Given the description of an element on the screen output the (x, y) to click on. 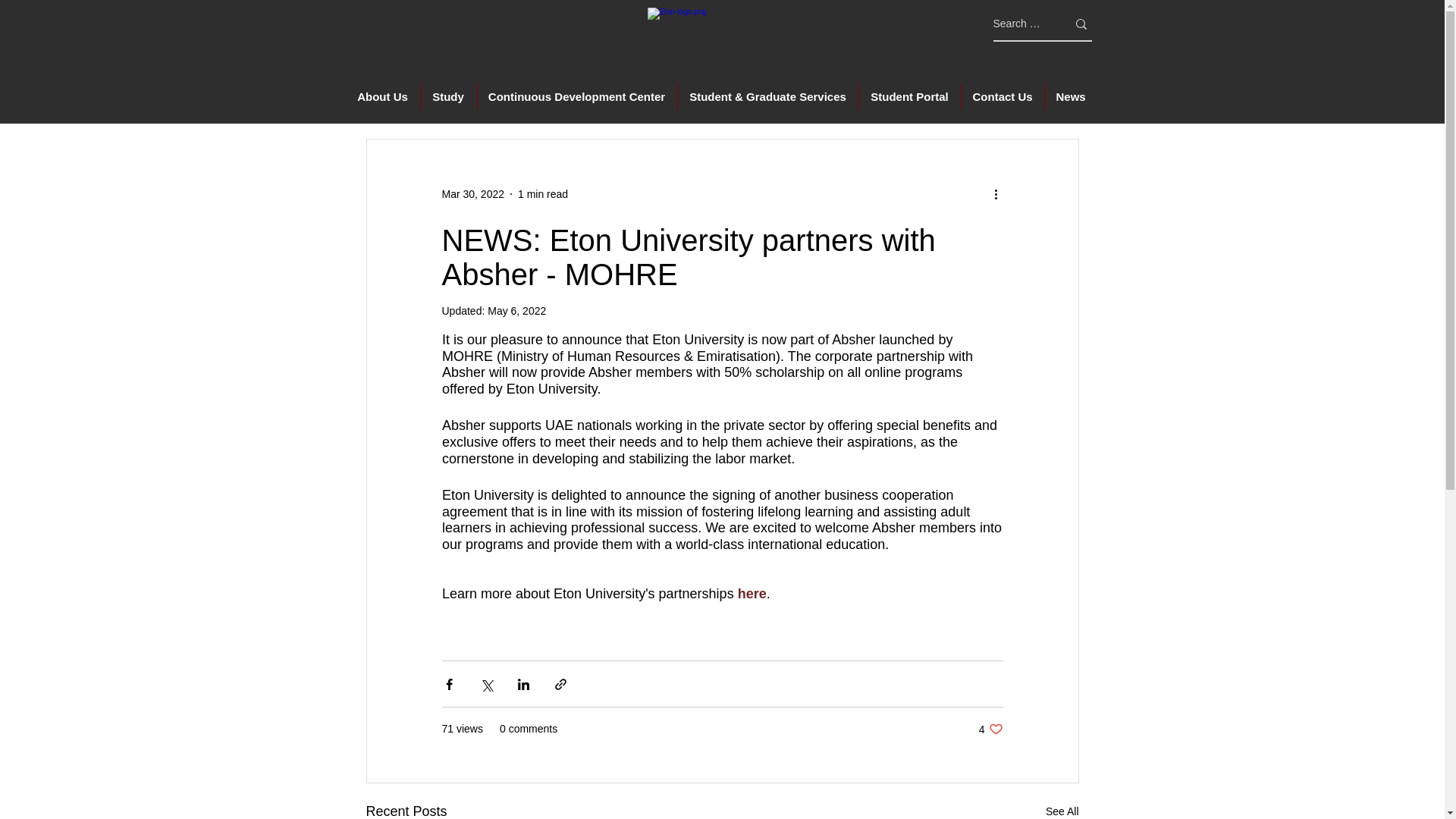
May 6, 2022 (516, 310)
here (750, 593)
Mar 30, 2022 (990, 728)
1 min read (472, 193)
Study (542, 193)
News (448, 96)
See All (1069, 96)
Student Portal (1061, 809)
Continuous Development Center (909, 96)
